Given the description of an element on the screen output the (x, y) to click on. 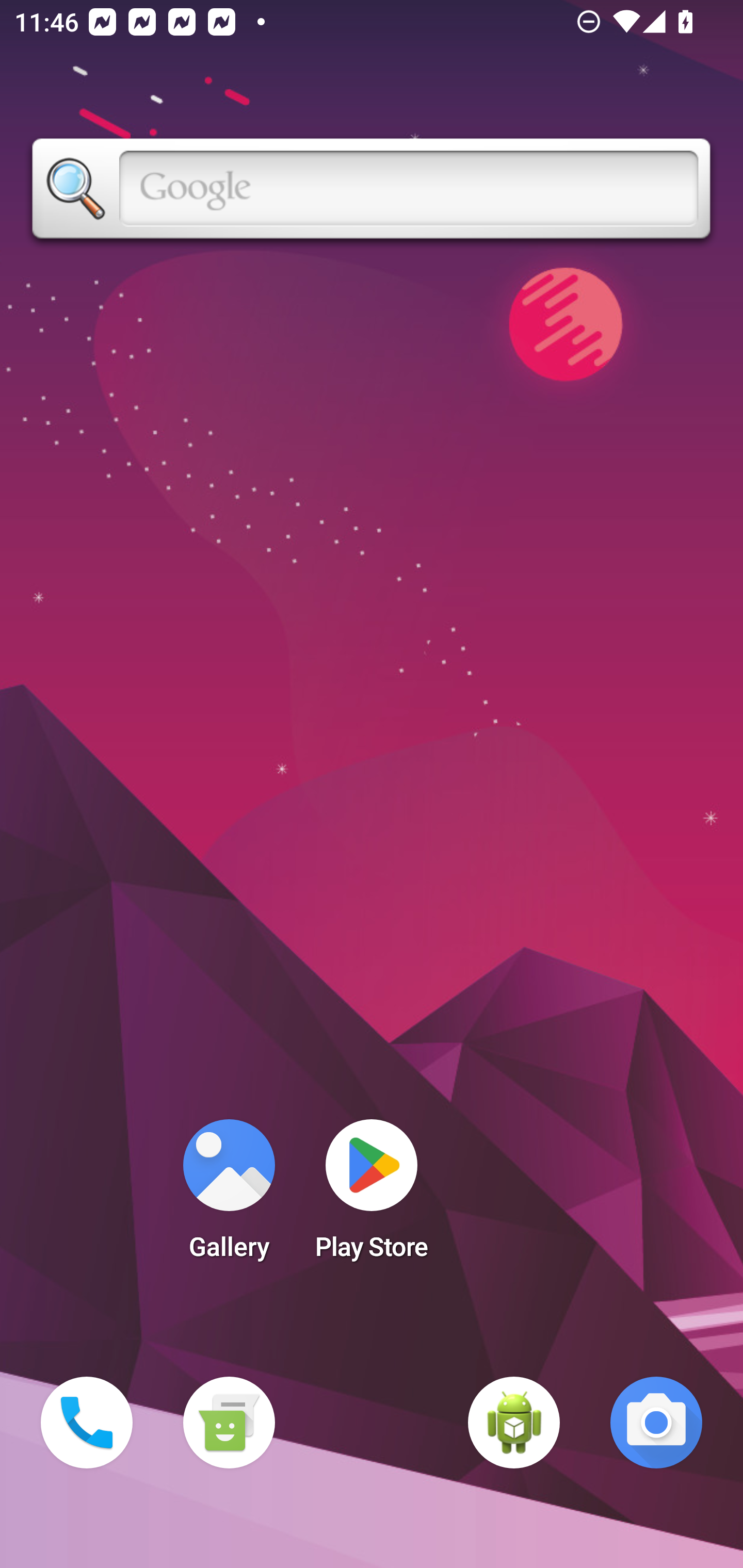
Gallery (228, 1195)
Play Store (371, 1195)
Phone (86, 1422)
Messaging (228, 1422)
WebView Browser Tester (513, 1422)
Camera (656, 1422)
